Given the description of an element on the screen output the (x, y) to click on. 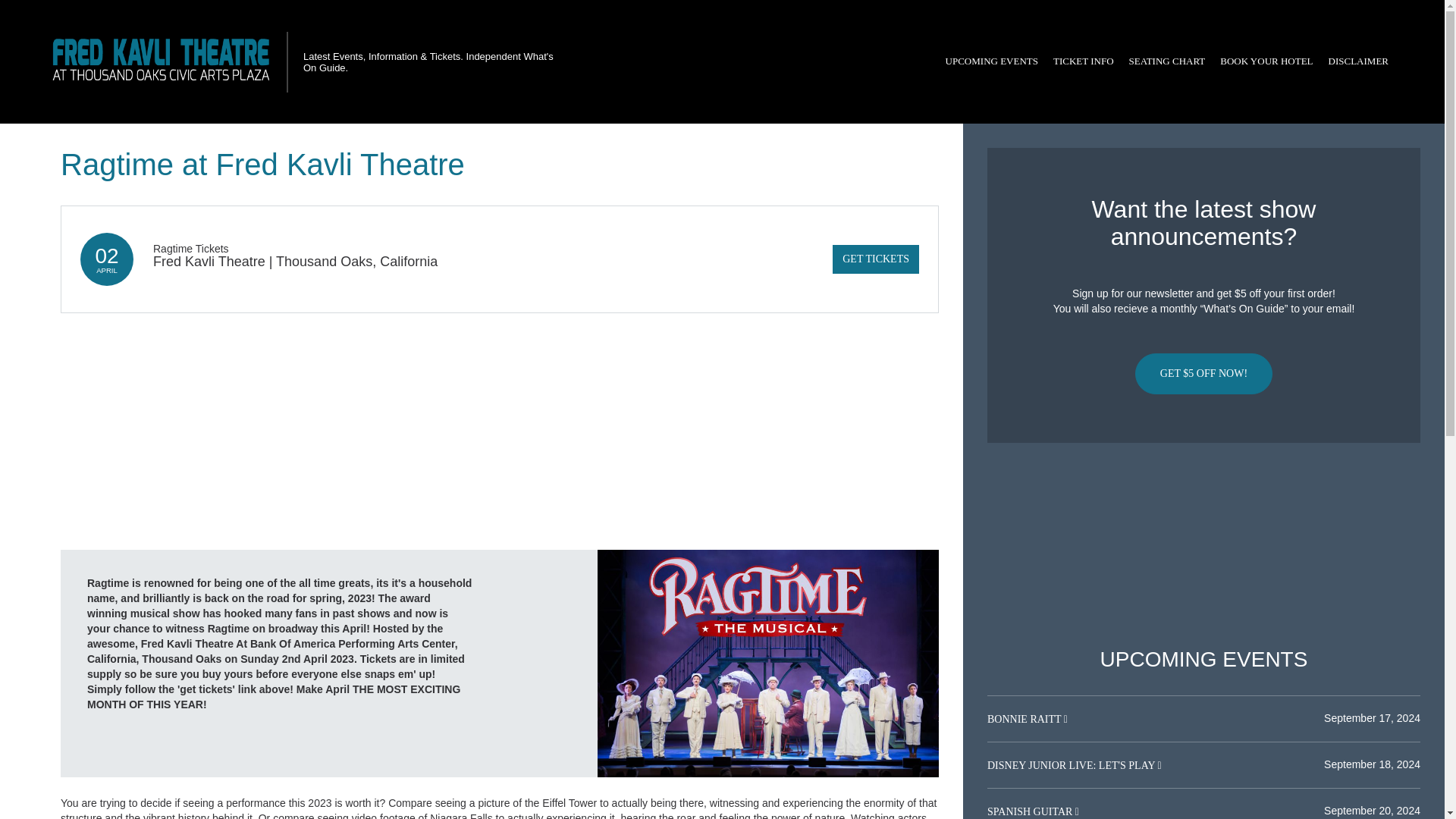
SEATING CHART (1166, 61)
Ragtime at Fred Kavli Theatre (767, 663)
GET TICKETS (875, 258)
Ragtime Tickets (190, 248)
DISCLAIMER (1358, 61)
TICKET INFO (1083, 61)
UPCOMING EVENTS (991, 61)
BOOK YOUR HOTEL (1266, 61)
DISNEY JUNIOR LIVE: LET'S PLAY (1072, 765)
BONNIE RAITT (1025, 718)
